Given the description of an element on the screen output the (x, y) to click on. 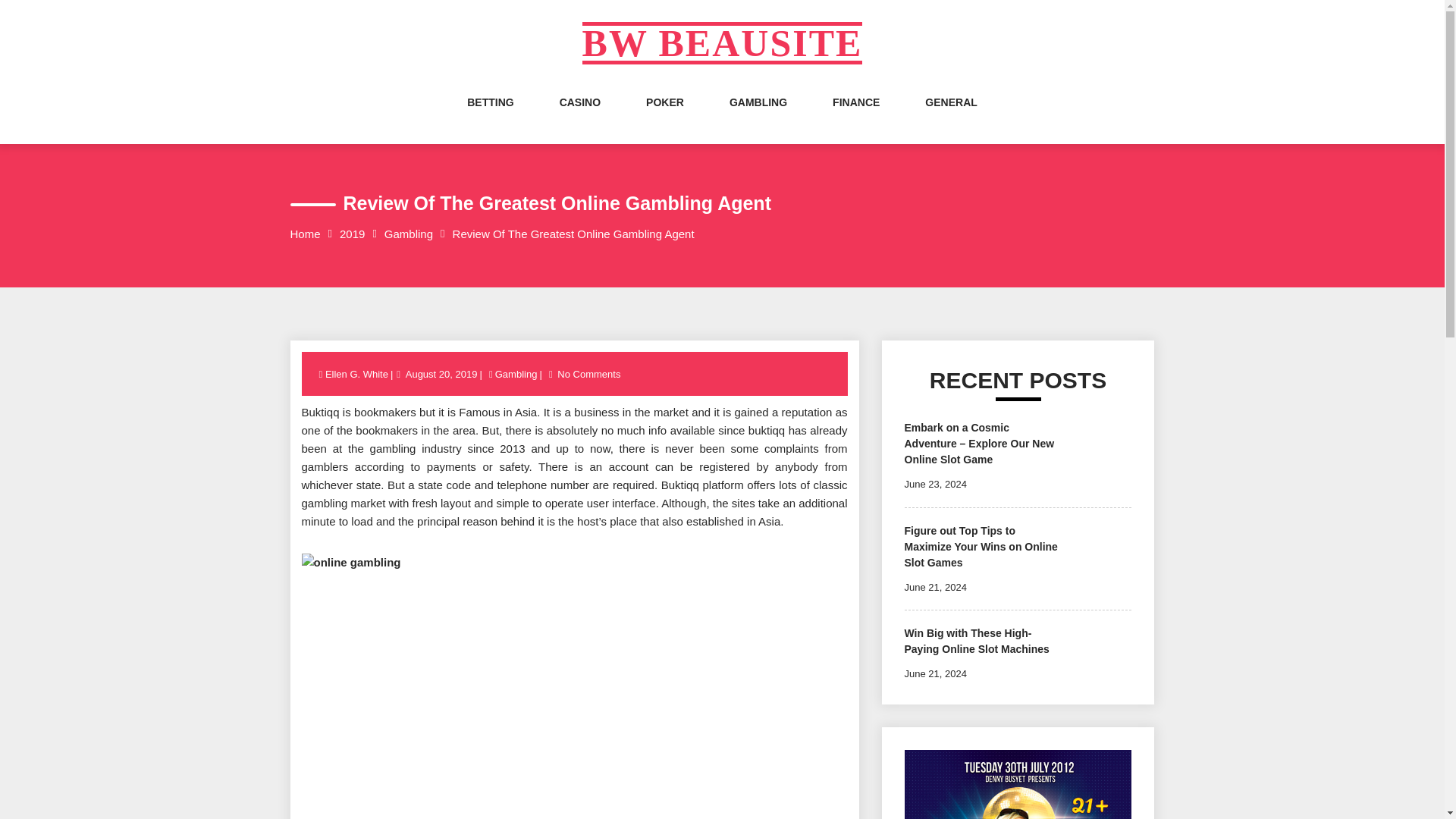
Gambling (516, 374)
Ellen G. White (357, 374)
Win Big with These High-Paying Online Slot Machines (976, 641)
No Comments (588, 374)
GENERAL (950, 117)
CASINO (579, 117)
Home (304, 233)
FINANCE (855, 117)
BW BEAUSITE (722, 43)
August 20, 2019 (441, 374)
Gambling (408, 233)
BETTING (490, 117)
2019 (352, 233)
GAMBLING (758, 117)
